Given the description of an element on the screen output the (x, y) to click on. 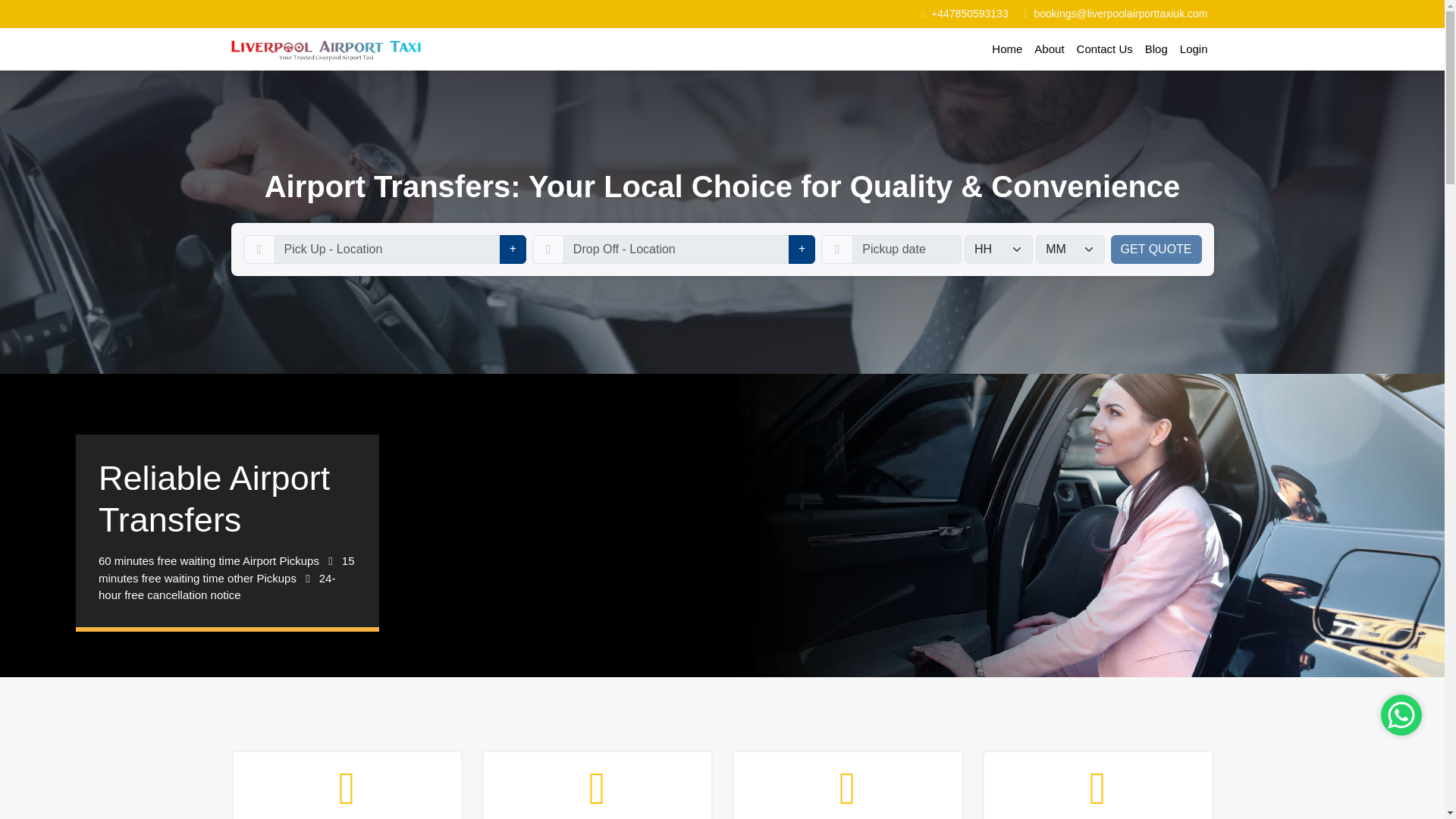
GET QUOTE (1156, 249)
Contact Us (1104, 49)
Login (1193, 49)
Home (1006, 49)
Blog (1155, 49)
Blog (1155, 49)
About (1048, 49)
